Given the description of an element on the screen output the (x, y) to click on. 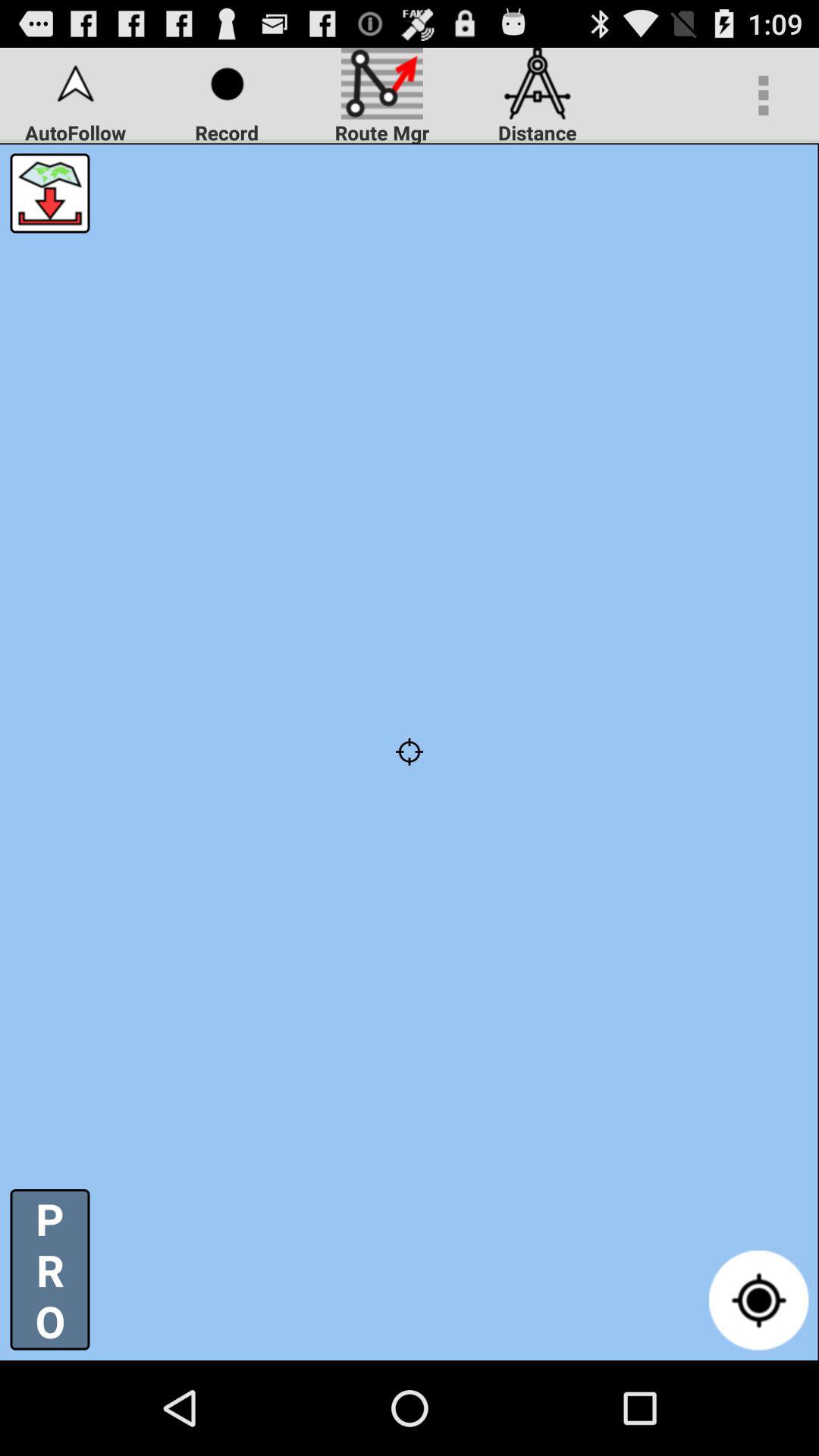
press icon below autofollow app (409, 751)
